Given the description of an element on the screen output the (x, y) to click on. 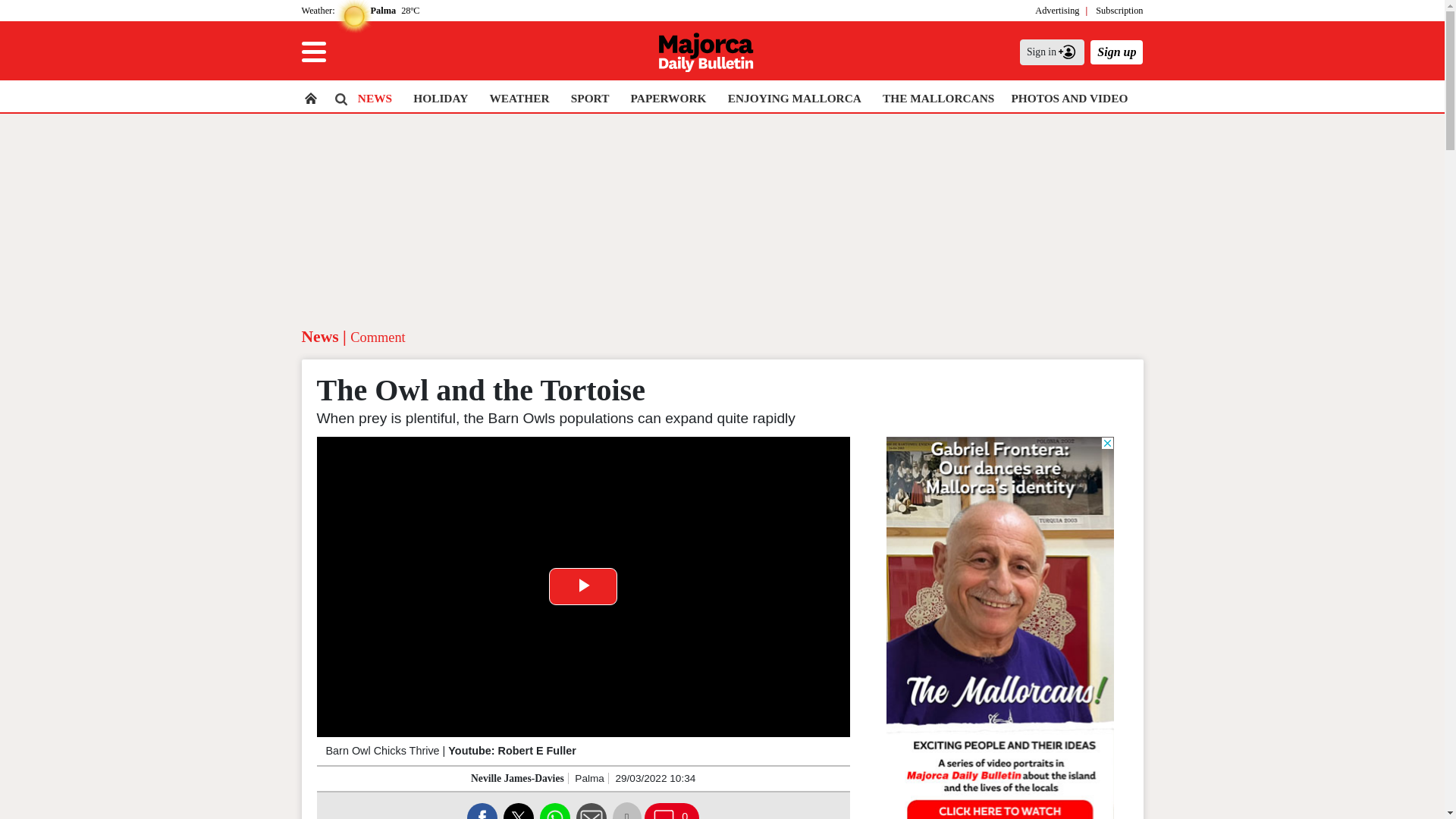
Weather (317, 9)
Subscription (1119, 9)
Advertising (1056, 9)
Play Video (582, 586)
